Given the description of an element on the screen output the (x, y) to click on. 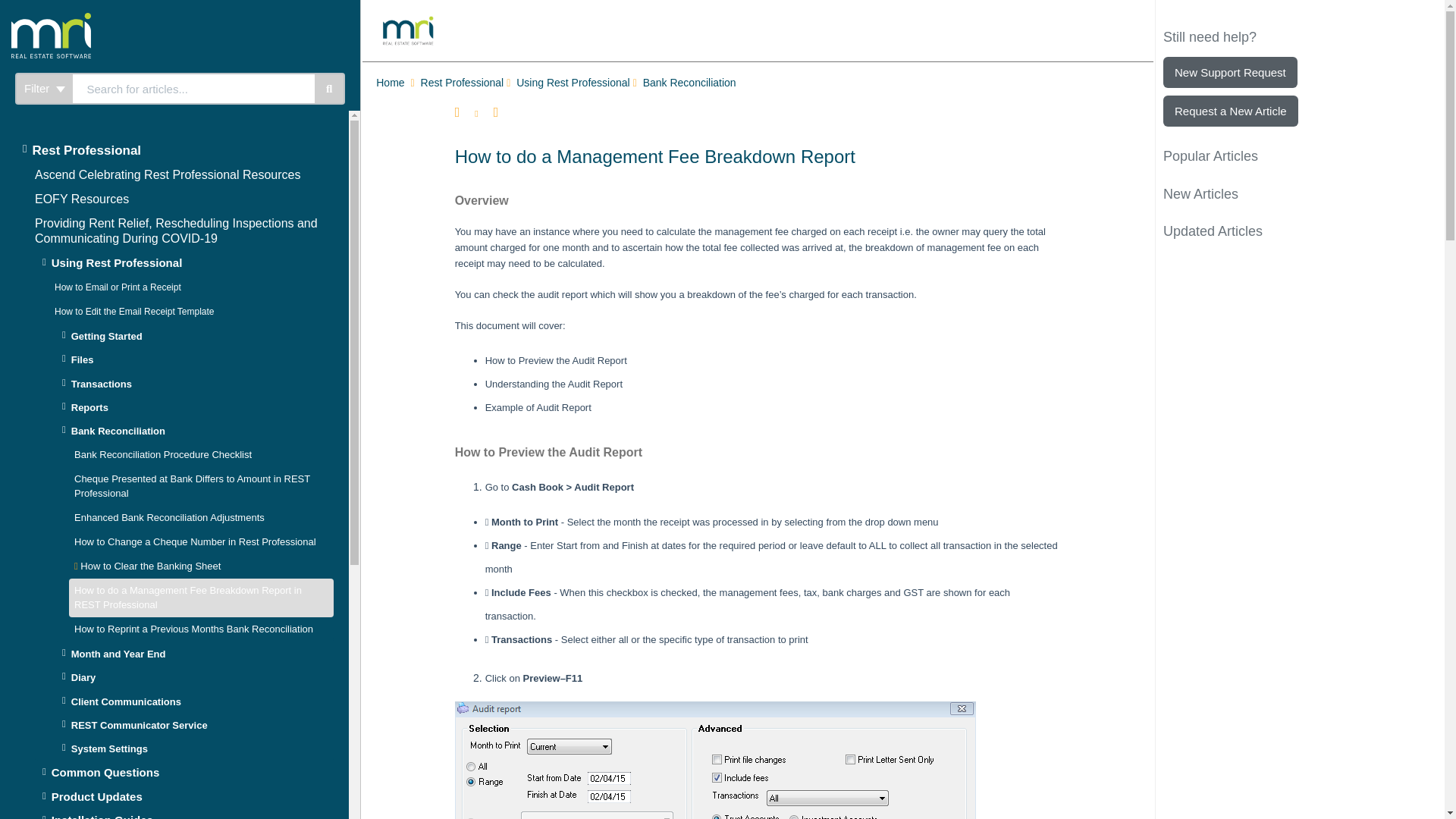
Search (192, 88)
Search (329, 88)
Using Rest Professional (573, 83)
How to Edit the Email Receipt Template (134, 311)
Getting Started (192, 336)
Ascend Celebrating Rest Professional Resources (166, 174)
Bank Reconciliation (691, 83)
Rest Professional (170, 150)
How to Email or Print a Receipt (117, 286)
